Given the description of an element on the screen output the (x, y) to click on. 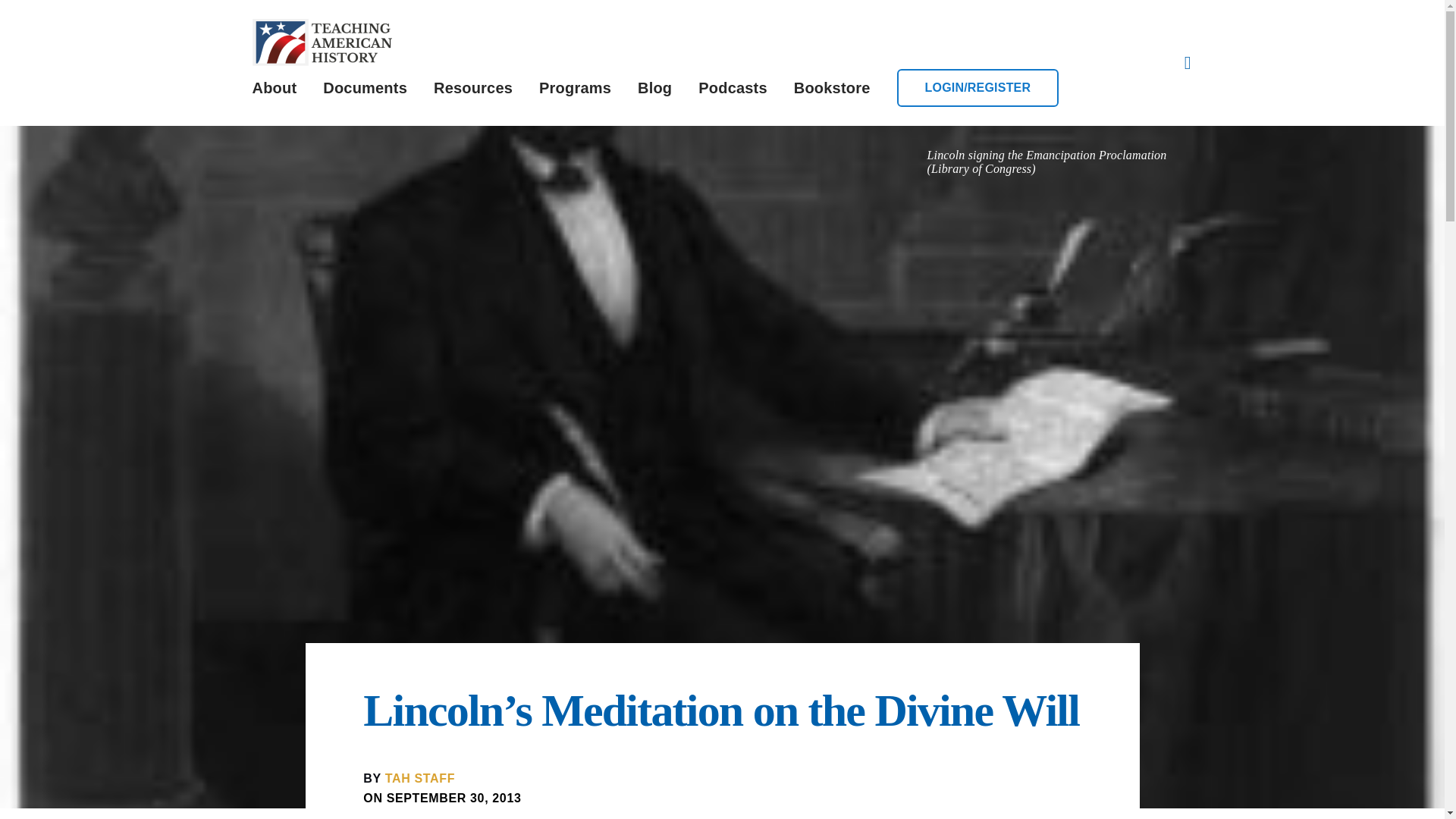
Podcasts (732, 87)
Blog (654, 87)
Programs (574, 87)
Documents (365, 87)
About (274, 87)
Bookstore (831, 87)
Resources (472, 87)
